Given the description of an element on the screen output the (x, y) to click on. 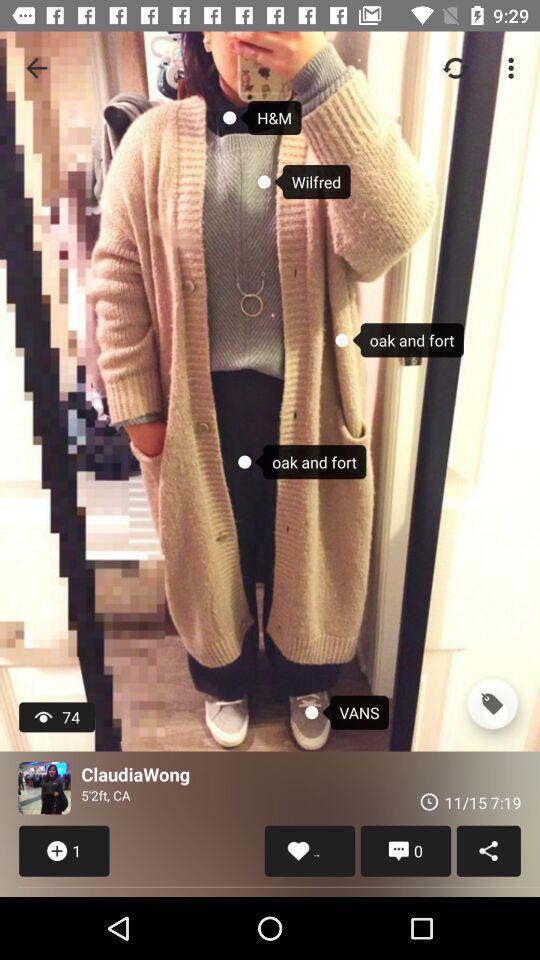
press item to the left of claudiawong (44, 787)
